Given the description of an element on the screen output the (x, y) to click on. 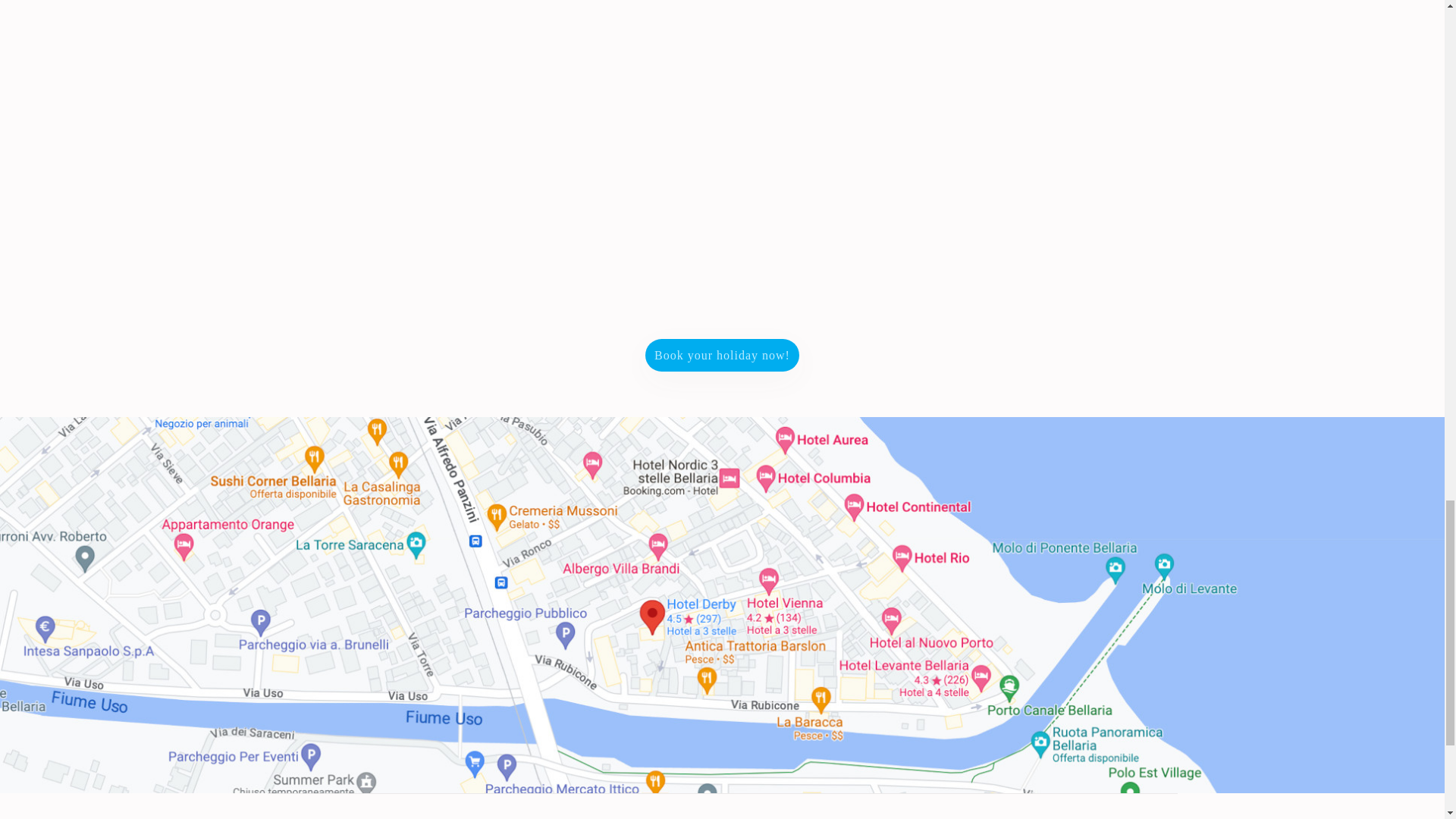
Book your holiday now! (722, 355)
Book your holiday now! (722, 355)
